Given the description of an element on the screen output the (x, y) to click on. 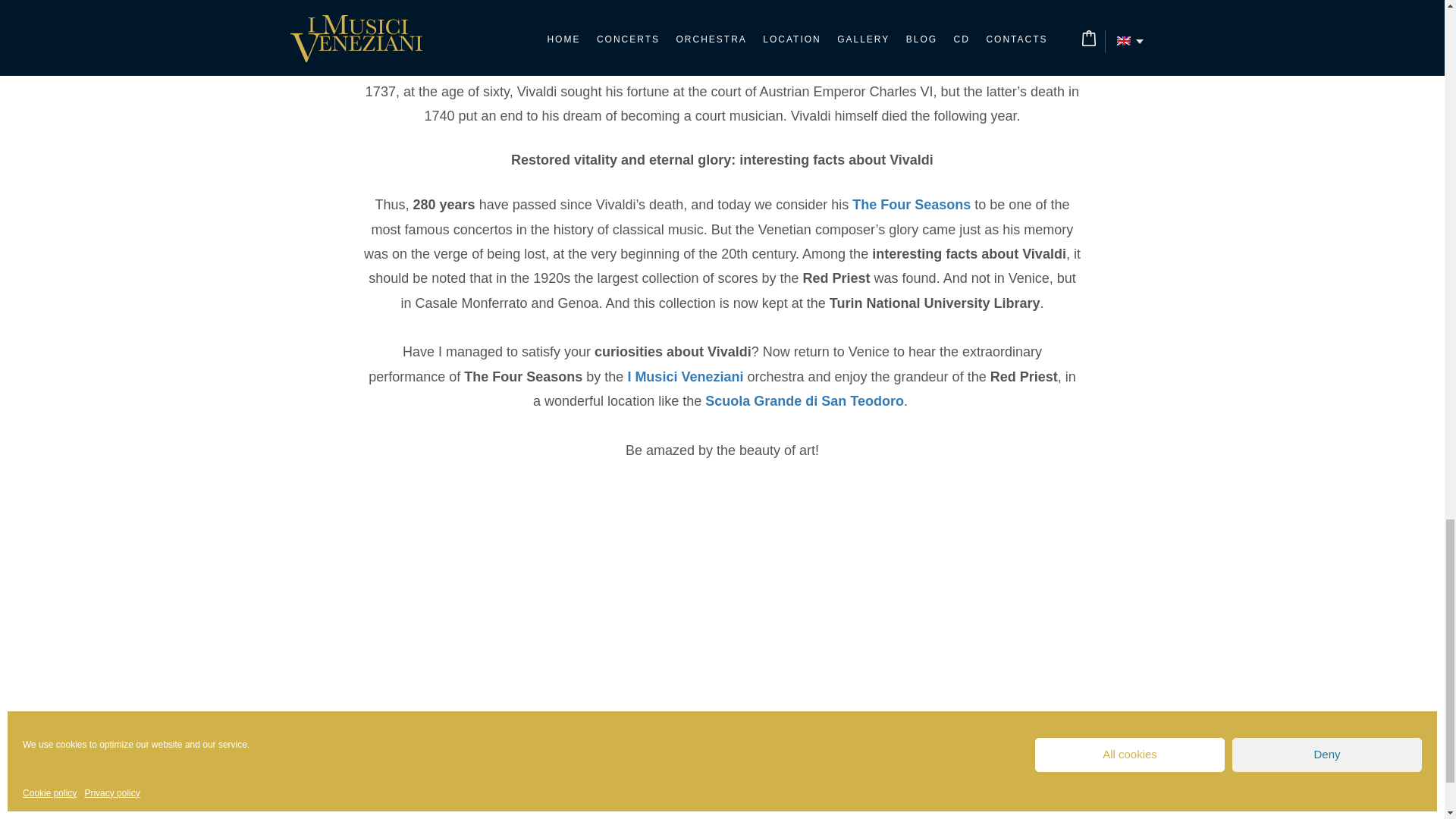
Scuola Grande di San Teodoro (804, 400)
The Four Seasons (911, 204)
I Musici Veneziani (684, 376)
